Given the description of an element on the screen output the (x, y) to click on. 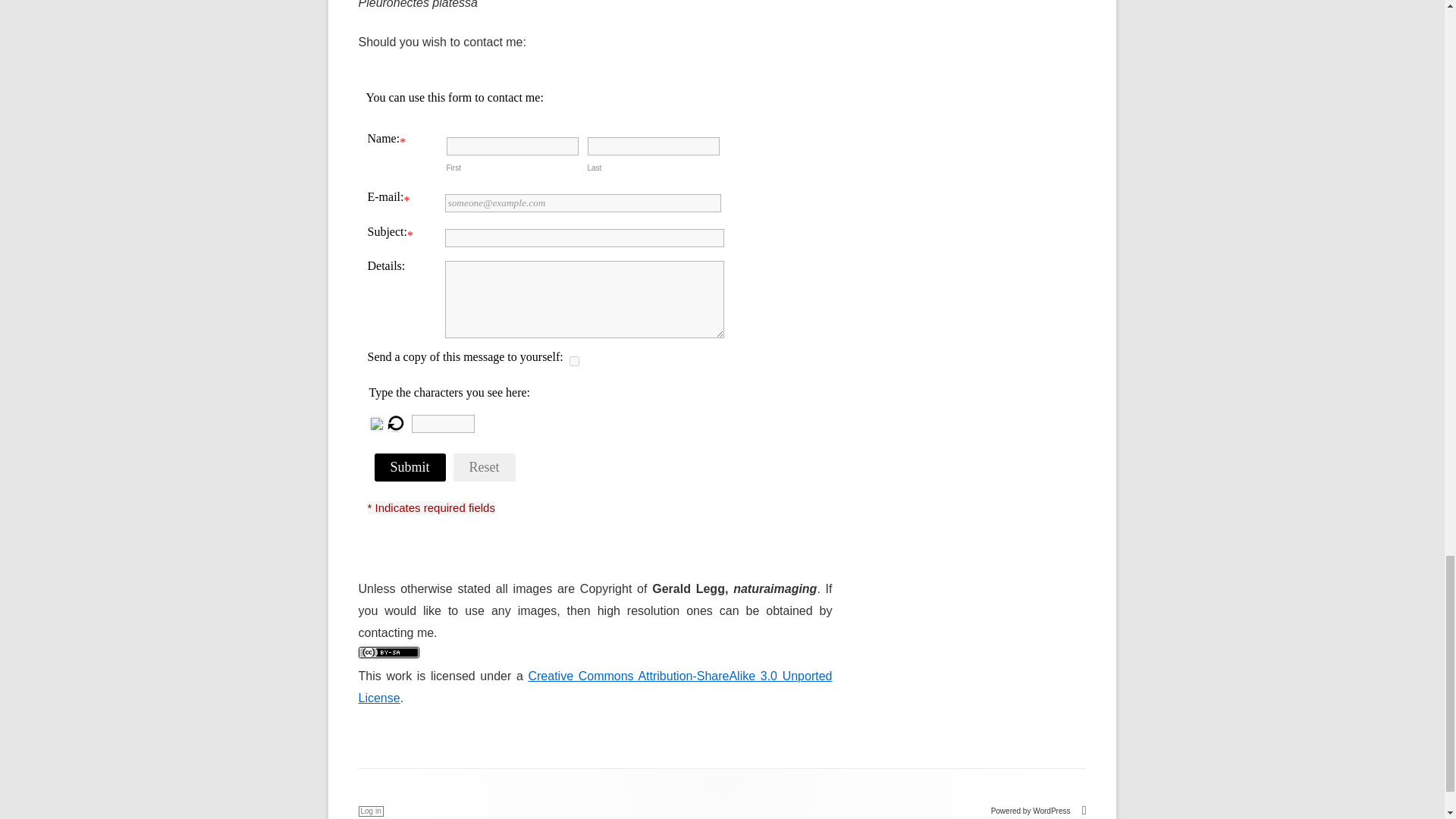
Semantic Personal Publishing Platform (1038, 810)
on (573, 361)
